Given the description of an element on the screen output the (x, y) to click on. 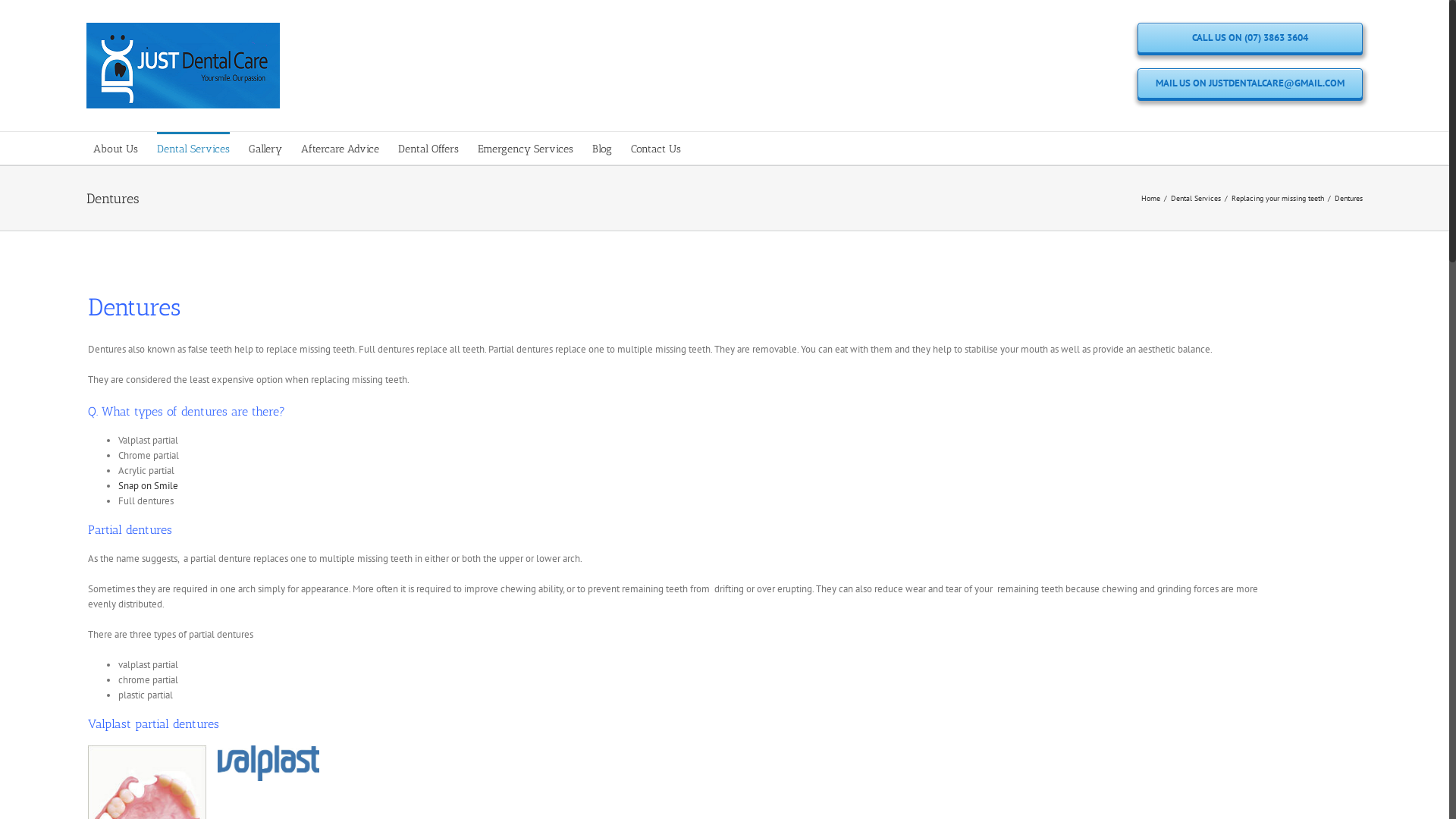
Home Element type: text (1150, 197)
Emergency Services Element type: text (525, 147)
Dental Services Element type: text (1195, 197)
Blog Element type: text (601, 147)
Contact Us Element type: text (655, 147)
Aftercare Advice Element type: text (340, 147)
MAIL US ON JUSTDENTALCARE@GMAIL.COM Element type: text (1249, 83)
Gallery Element type: text (265, 147)
CALL US ON (07) 3863 3604 Element type: text (1249, 37)
About Us Element type: text (115, 147)
Replacing your missing teeth Element type: text (1277, 197)
Dental Offers Element type: text (428, 147)
Dental Services Element type: text (192, 147)
Snap on Smile Element type: text (148, 485)
